Given the description of an element on the screen output the (x, y) to click on. 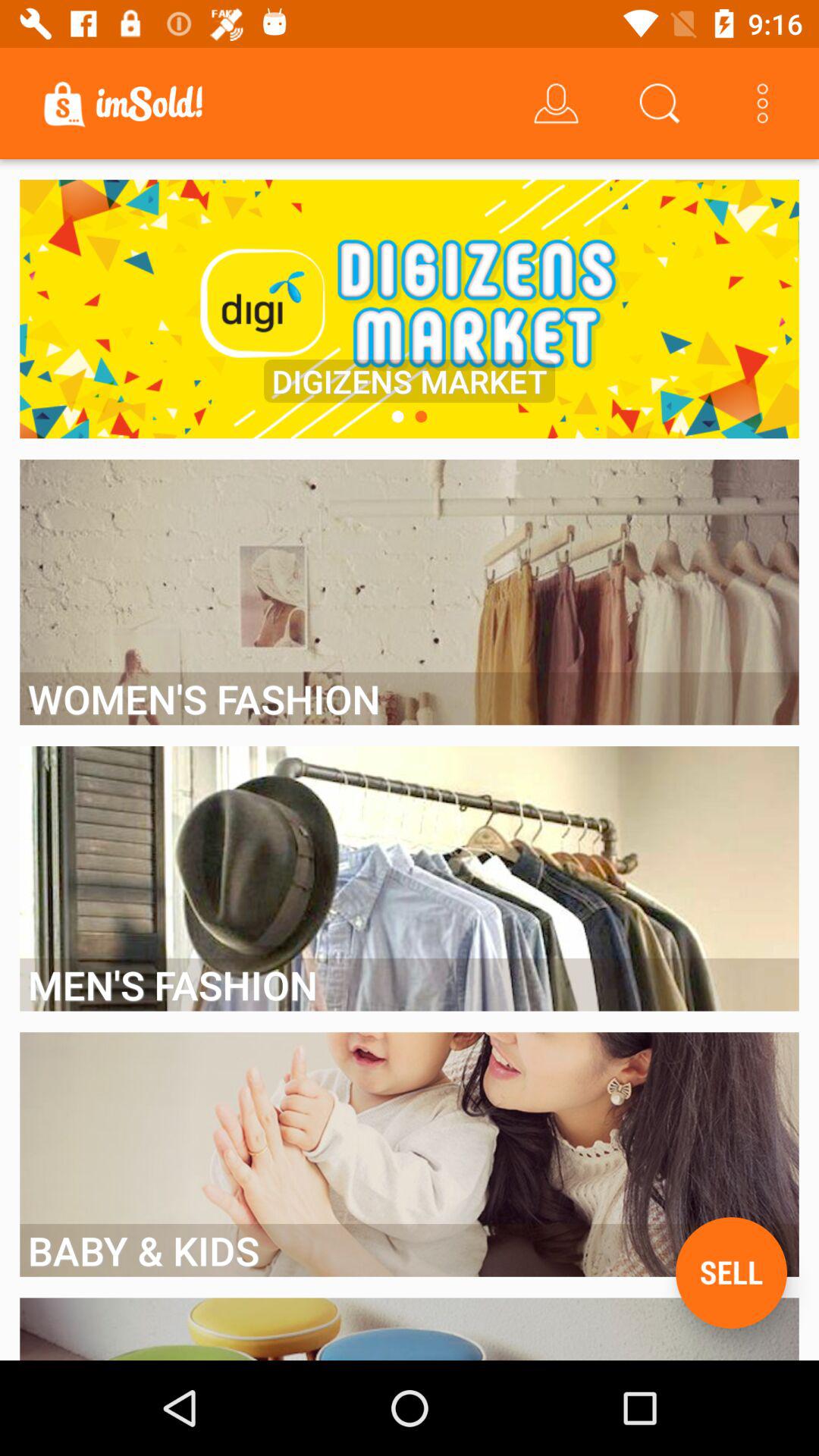
scroll until the digizens market (409, 380)
